Given the description of an element on the screen output the (x, y) to click on. 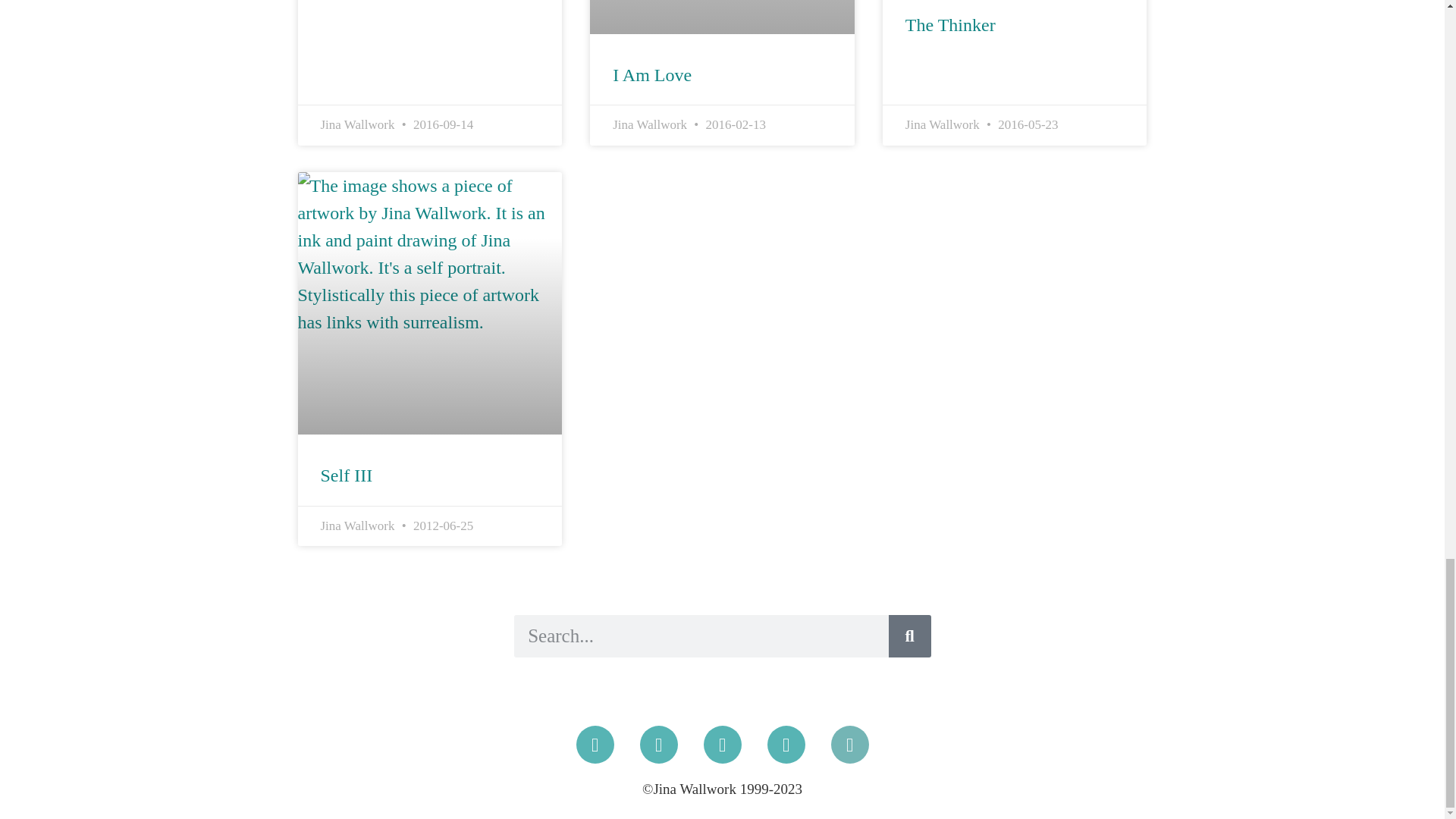
I Am Love (651, 75)
Self III (346, 475)
The Thinker (950, 25)
